Given the description of an element on the screen output the (x, y) to click on. 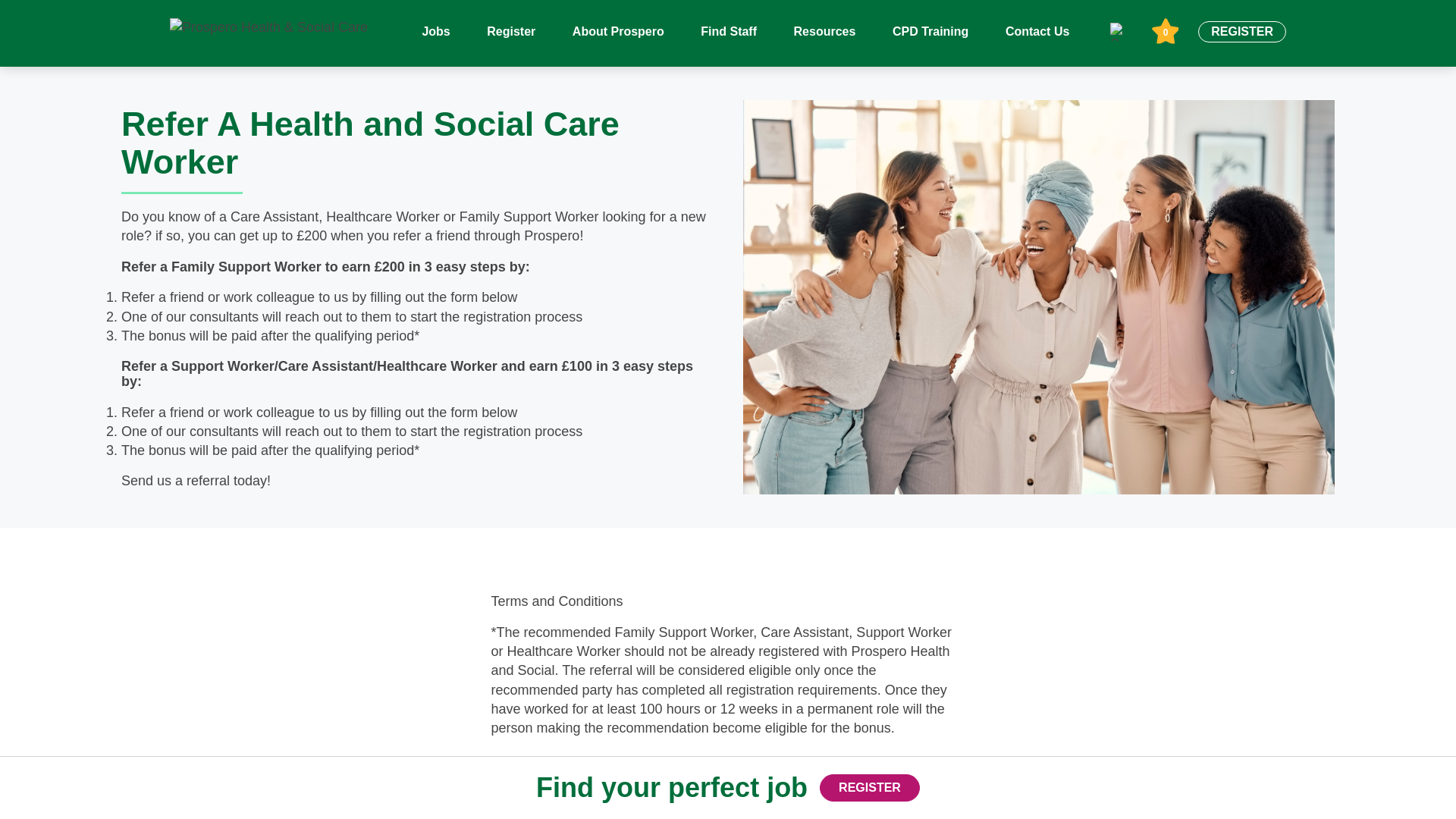
Jobs (435, 31)
Resources (617, 31)
CPD Training (824, 31)
Register (930, 31)
Contact Us (510, 31)
